Given the description of an element on the screen output the (x, y) to click on. 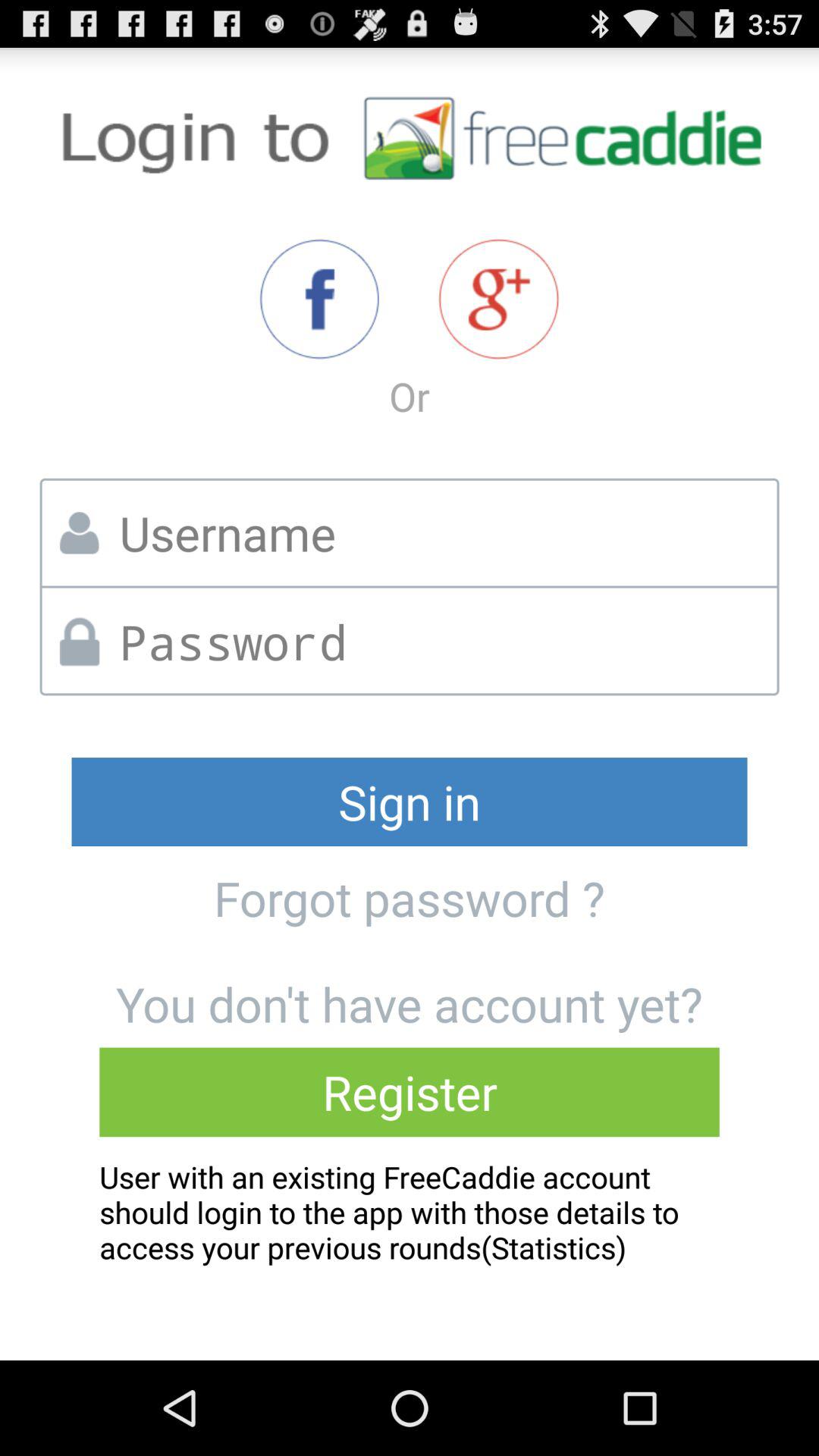
use facebook for login (318, 298)
